Given the description of an element on the screen output the (x, y) to click on. 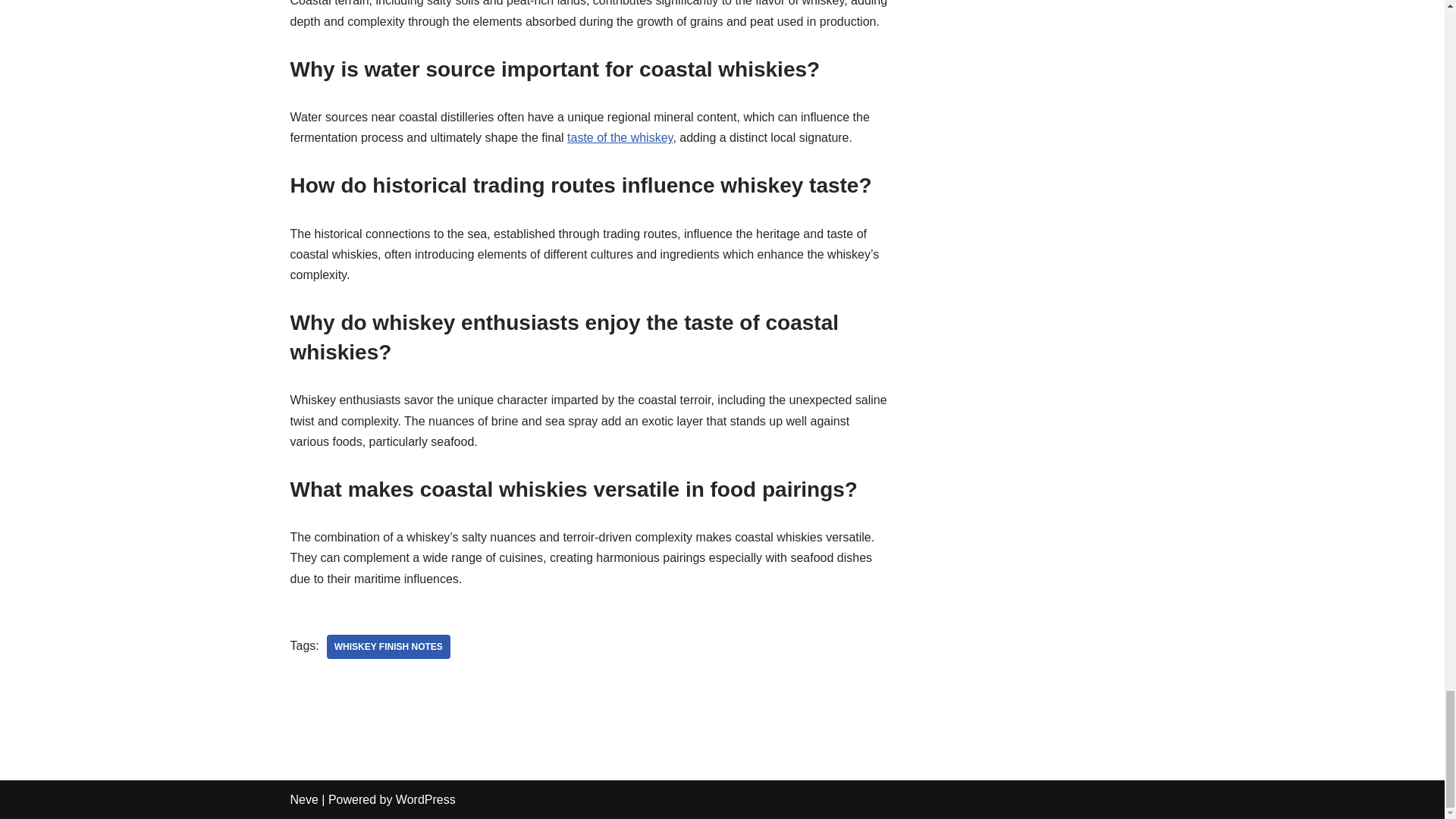
WordPress (425, 799)
Neve (303, 799)
taste of the whiskey (619, 137)
Whiskey finish notes (387, 646)
WHISKEY FINISH NOTES (387, 646)
